Given the description of an element on the screen output the (x, y) to click on. 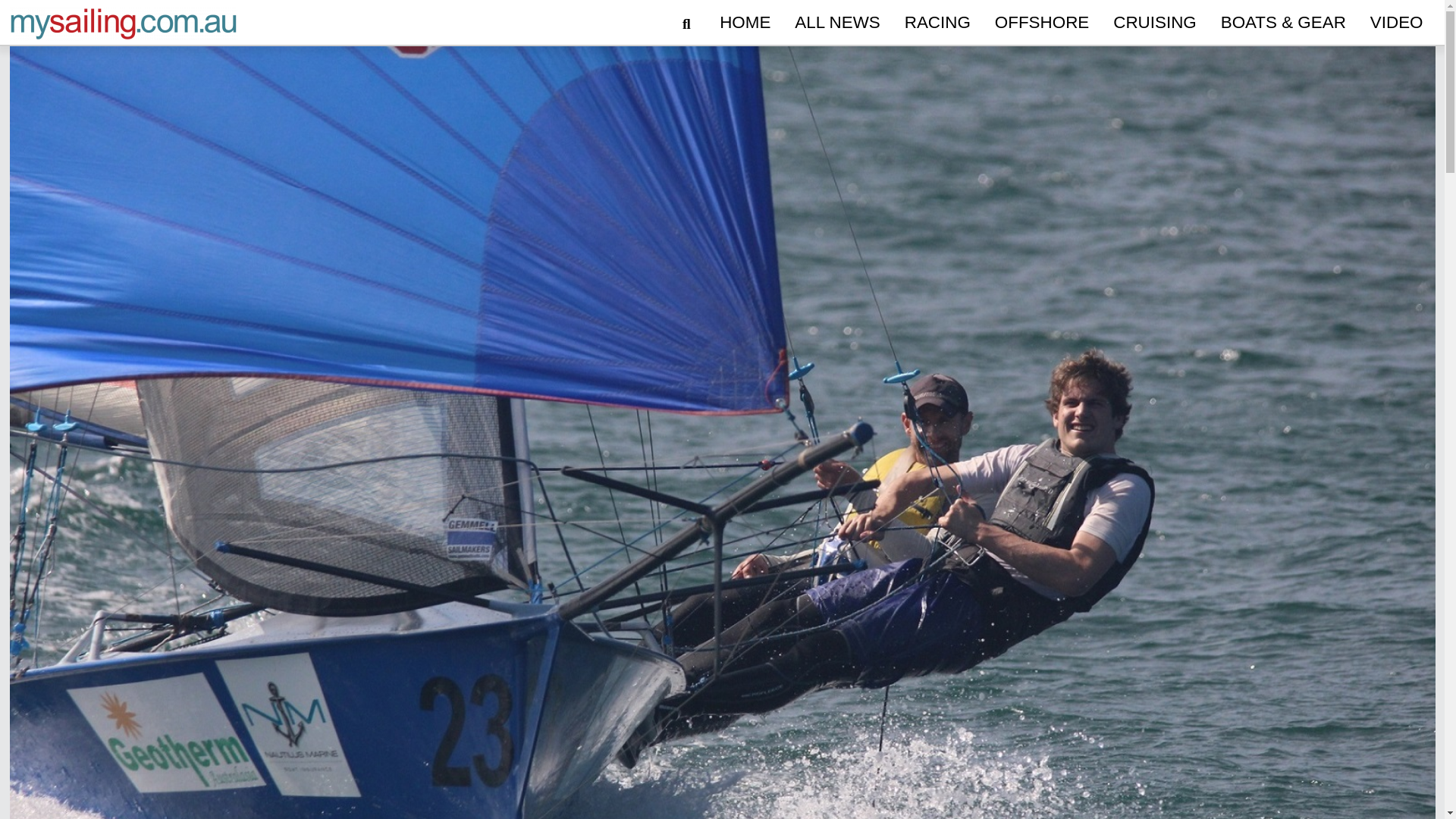
ALL NEWS (837, 22)
RACING (937, 22)
Cruising (1154, 22)
Video (1396, 22)
VIDEO (1396, 22)
HOME (744, 22)
Home (744, 22)
Offshore (1041, 22)
Racing (937, 22)
OFFSHORE (1041, 22)
